Given the description of an element on the screen output the (x, y) to click on. 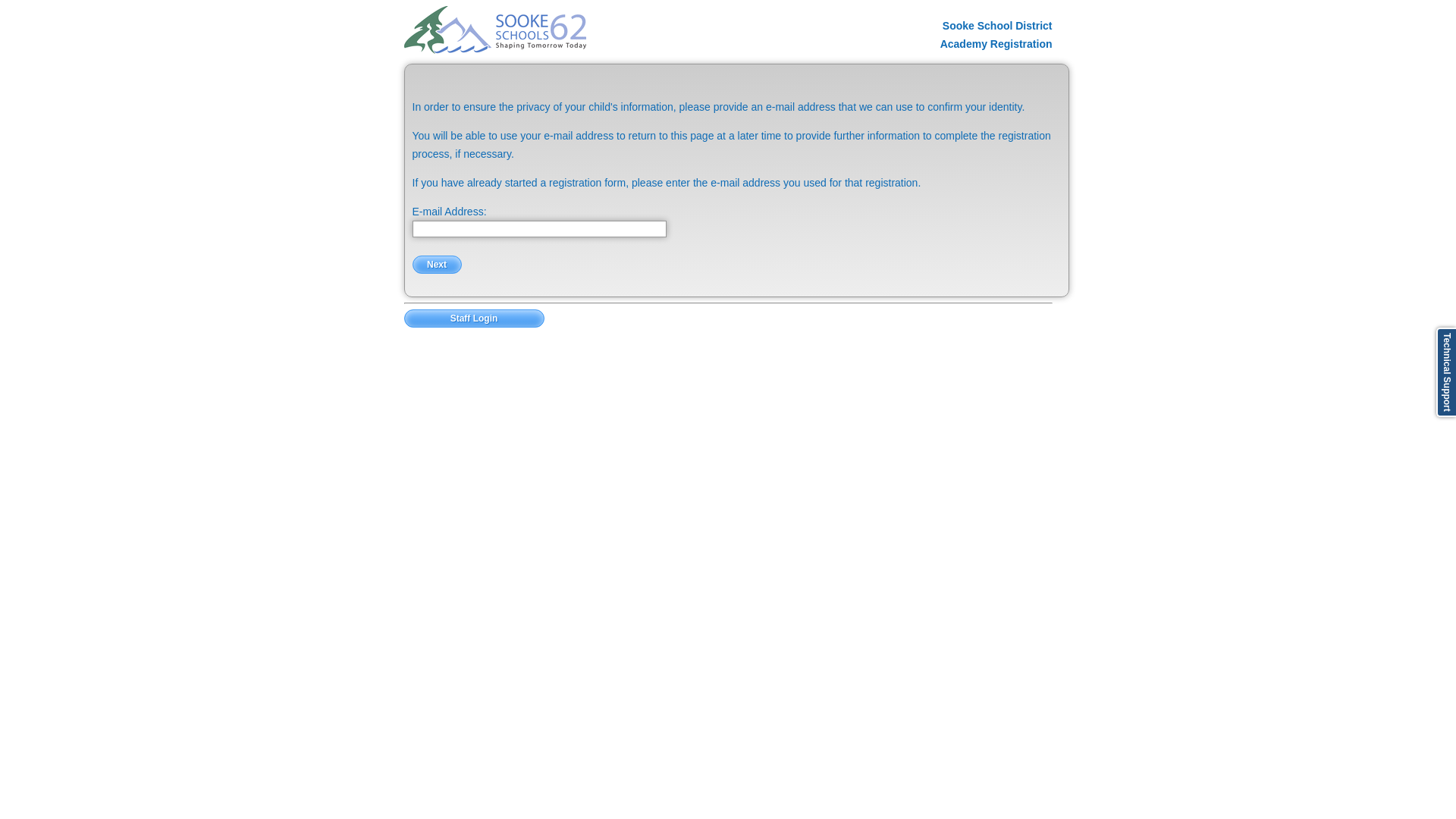
Next Element type: text (436, 264)
Staff Login Element type: text (473, 318)
